Given the description of an element on the screen output the (x, y) to click on. 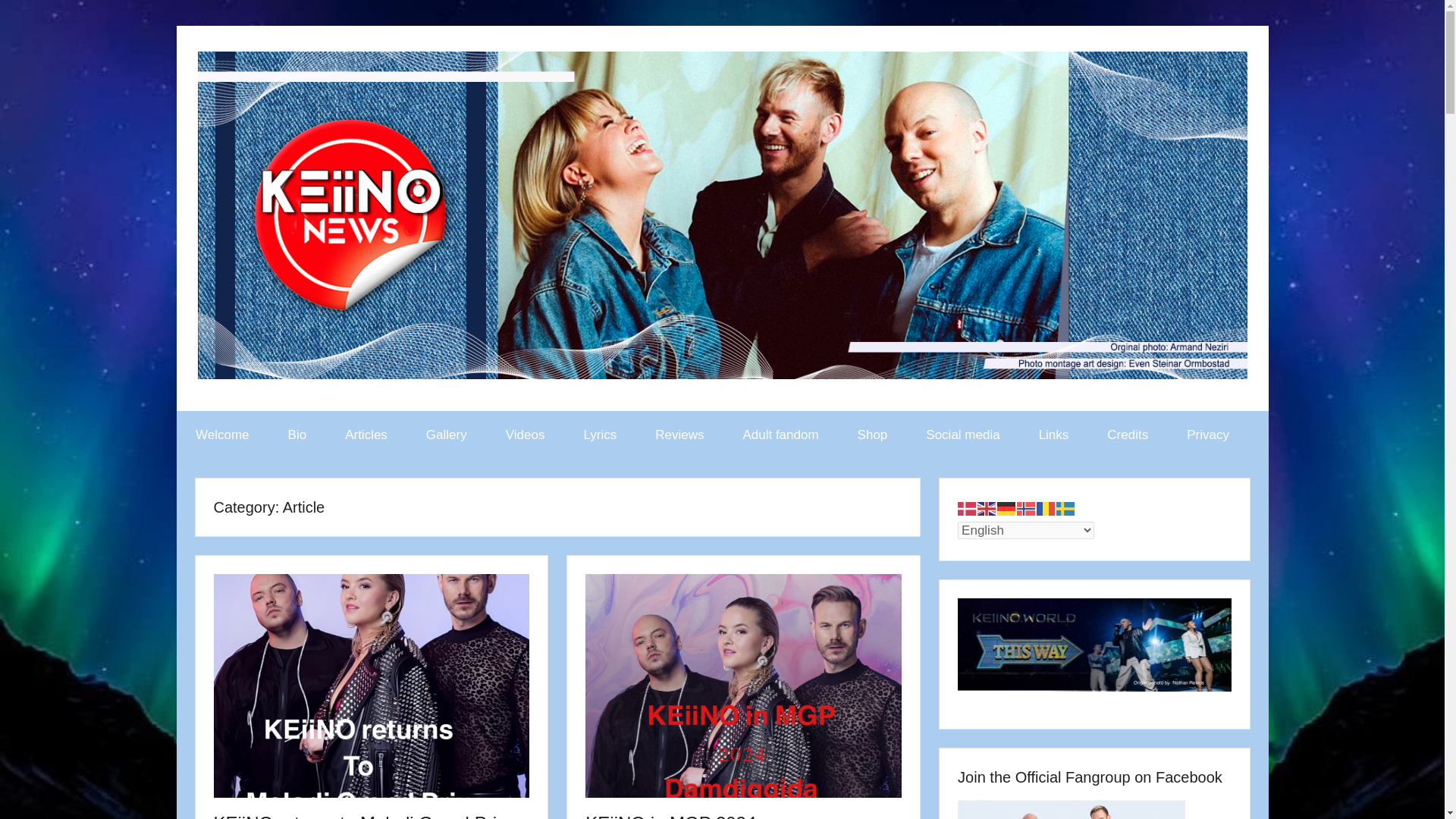
KEiiNO returns to Melodi Grand Prix (359, 816)
Social media (963, 435)
Bio (296, 435)
Adult fandom (780, 435)
Lyrics (600, 435)
Shop (872, 435)
Gallery (446, 435)
KEiiNO in MGP 2024 (670, 816)
Links (1053, 435)
Articles (366, 435)
